Given the description of an element on the screen output the (x, y) to click on. 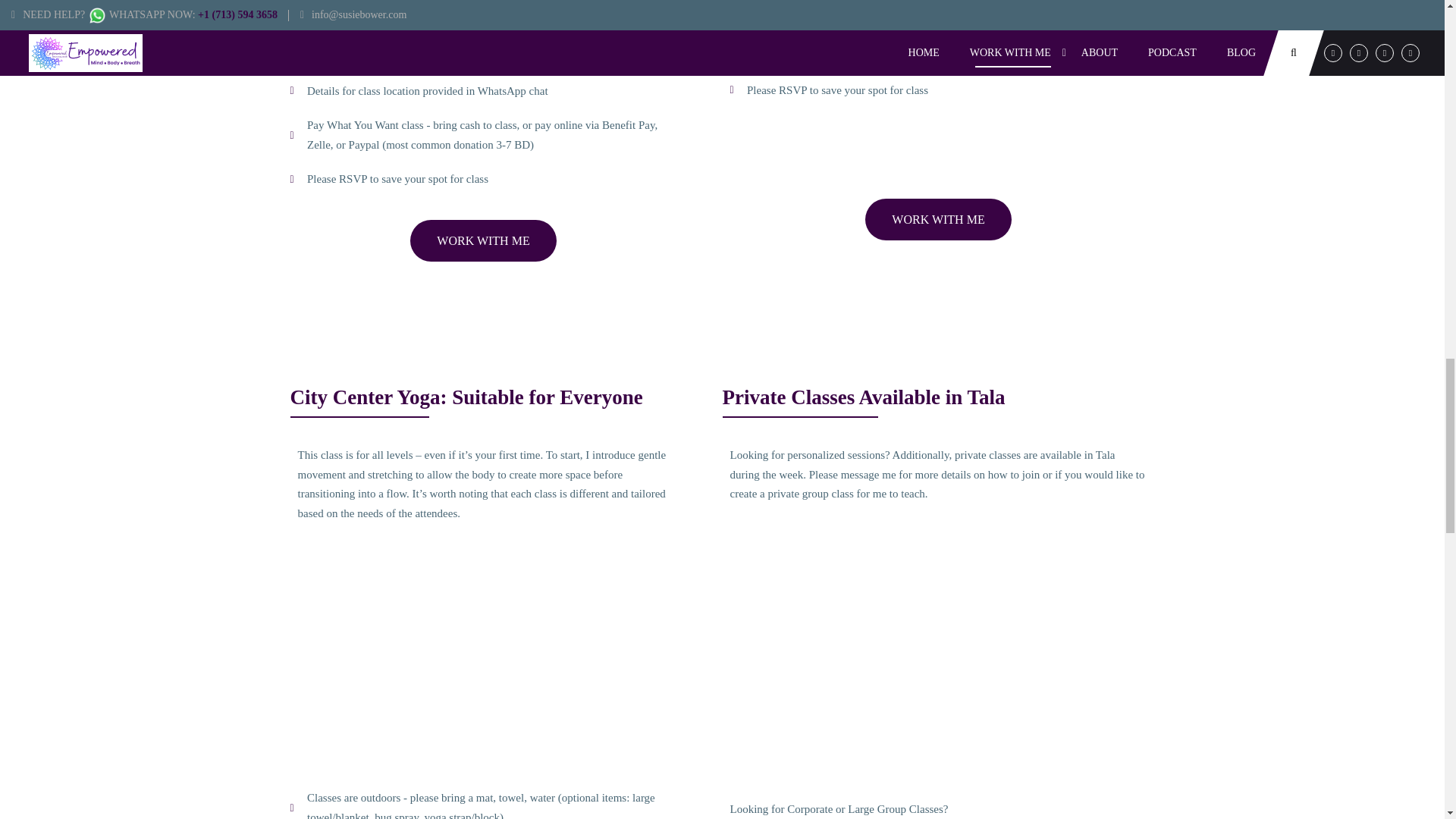
WORK WITH ME (483, 240)
